Given the description of an element on the screen output the (x, y) to click on. 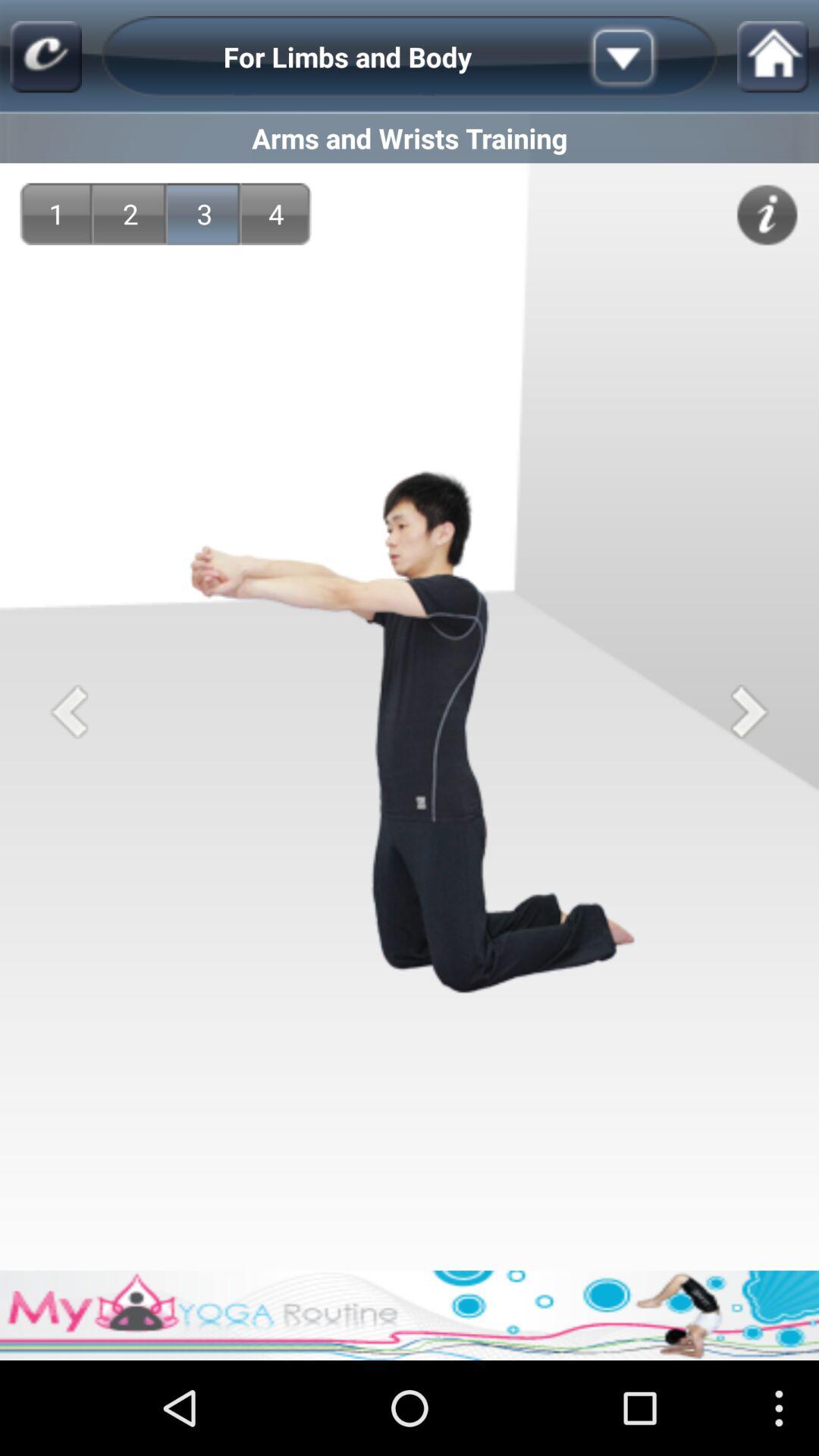
open item above arms and wrists item (772, 56)
